Given the description of an element on the screen output the (x, y) to click on. 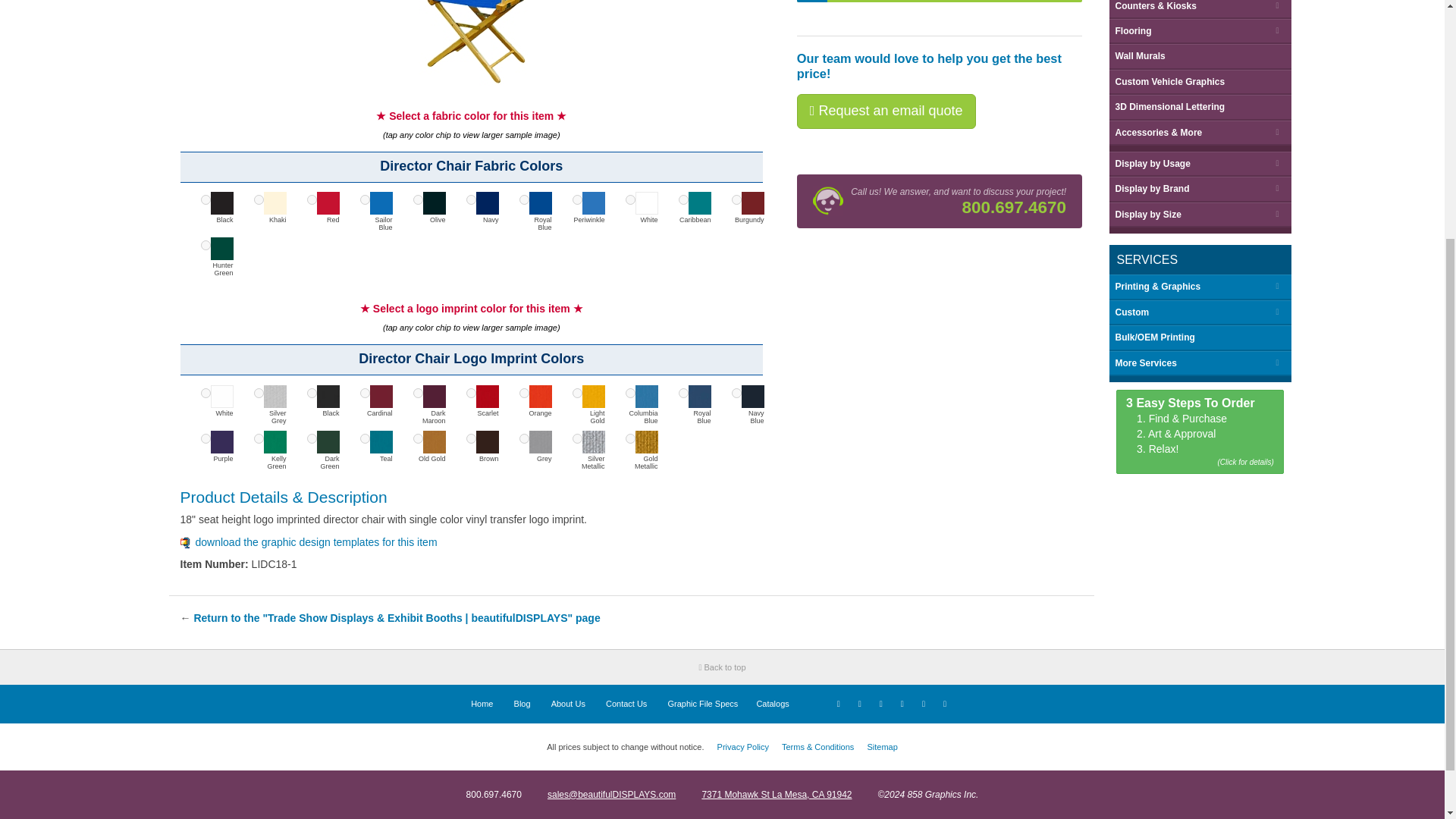
Silver Grey (258, 393)
Black (204, 199)
Royal Blue (523, 199)
Olive (417, 199)
Cardinal (364, 393)
Light Gold (576, 393)
Caribbean (682, 199)
Periwinkle (576, 199)
Hunter Green (204, 245)
Navy (470, 199)
18" Seat Height Single Color Logo Imprinted Director Chair (477, 42)
Khaki (258, 199)
Red (310, 199)
Burgundy (735, 199)
